Given the description of an element on the screen output the (x, y) to click on. 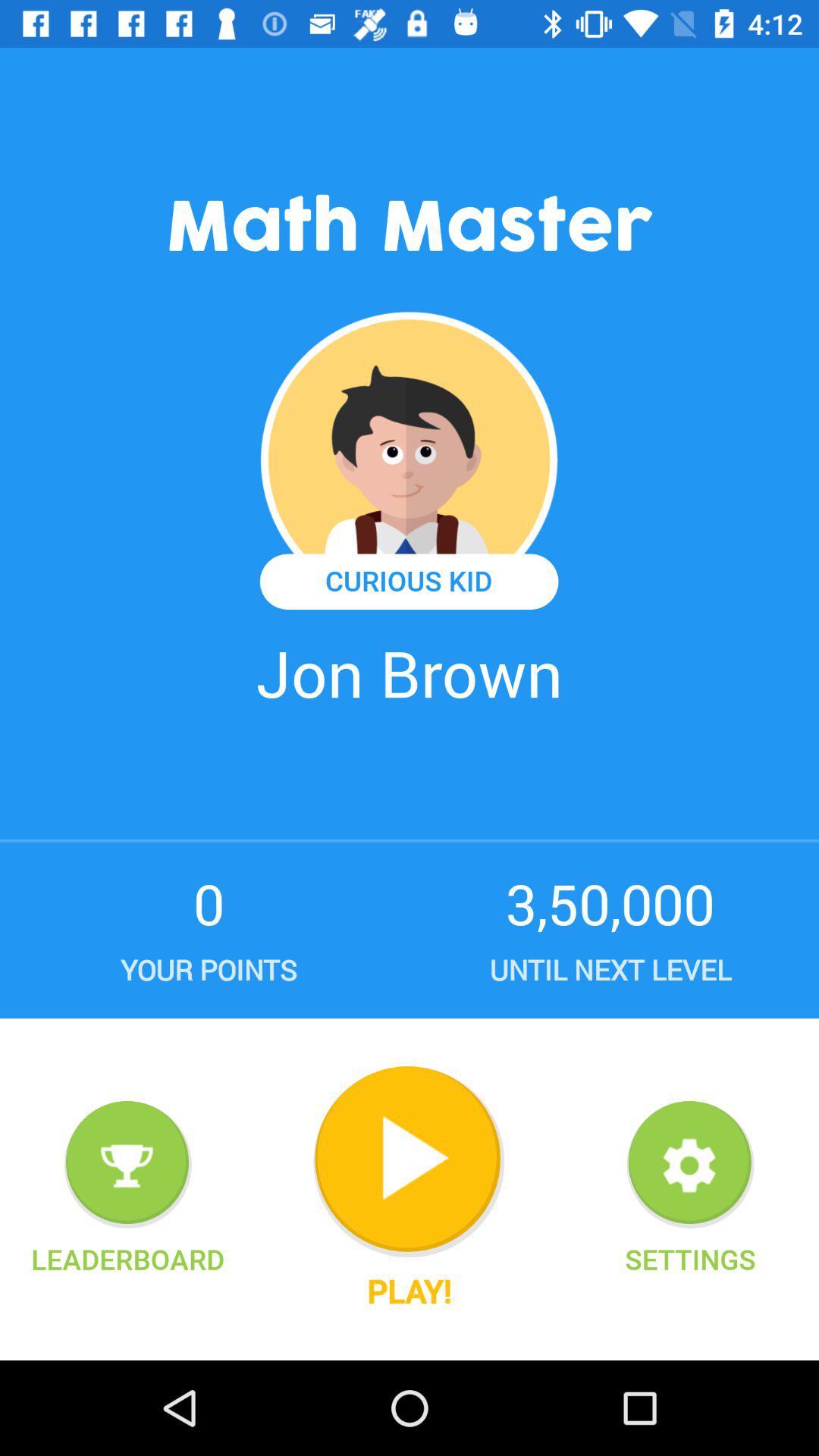
turn off settings icon (690, 1258)
